Given the description of an element on the screen output the (x, y) to click on. 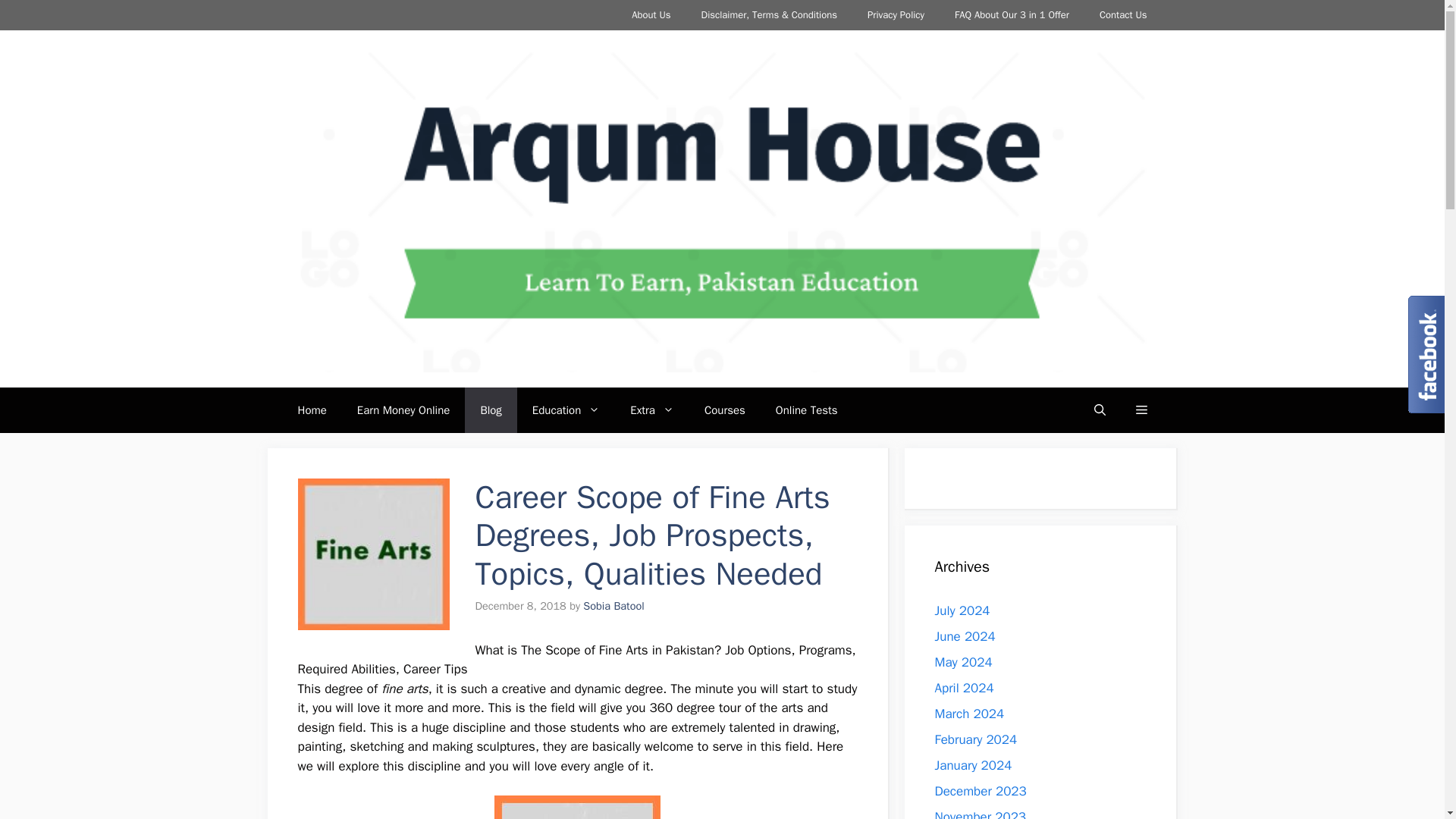
Blog (490, 410)
Earn Money Online (403, 410)
Online Tests (806, 410)
Contact Us (1122, 15)
Education (565, 410)
FAQ About Our 3 in 1 Offer (1011, 15)
Privacy Policy (895, 15)
Courses (724, 410)
View all posts by Sobia Batool (613, 605)
Sobia Batool (613, 605)
